Given the description of an element on the screen output the (x, y) to click on. 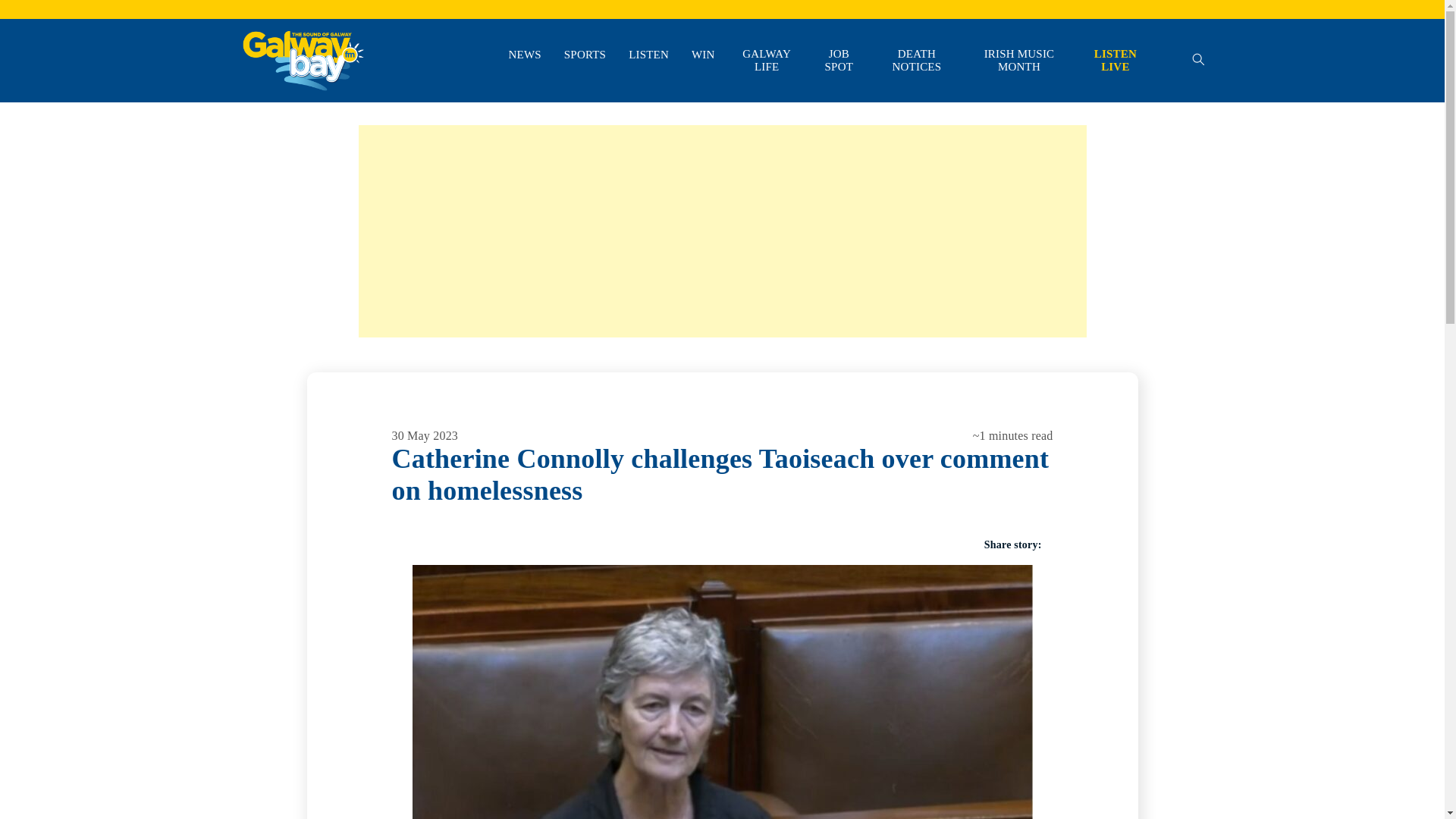
DEATH NOTICES (917, 60)
SPORTS (584, 54)
LISTEN (648, 54)
NEWS (524, 54)
LISTEN LIVE (1115, 60)
Galway Bay FM (279, 112)
GALWAY LIFE (767, 60)
JOB SPOT (838, 60)
WIN (702, 54)
